Given the description of an element on the screen output the (x, y) to click on. 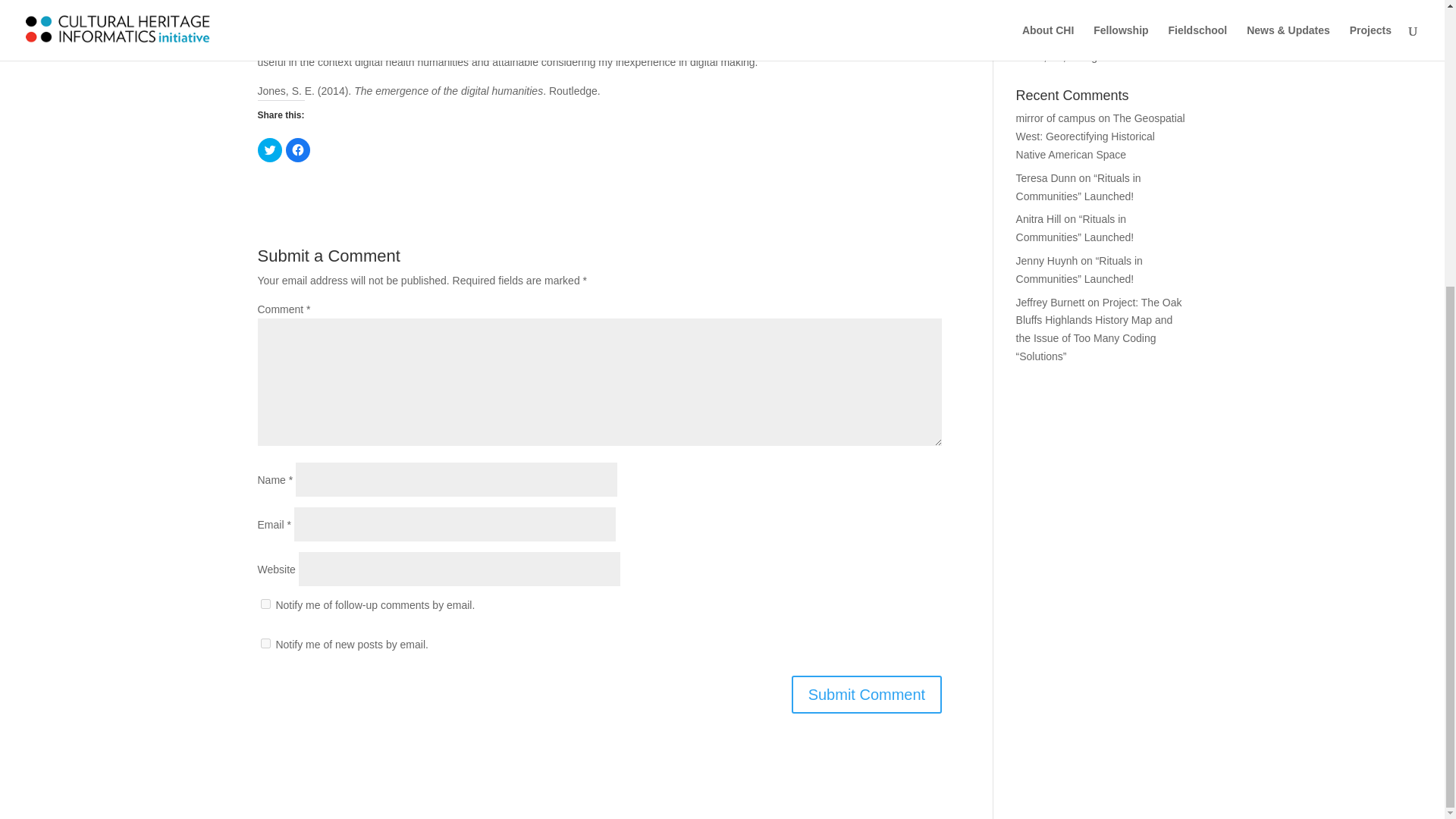
Submit Comment (867, 694)
subscribe (265, 643)
Click to share on Twitter (269, 150)
Jeffrey Burnett (1050, 302)
mirror of campus (1056, 118)
To fail, fail, fail again (1064, 56)
Submit Comment (867, 694)
subscribe (265, 603)
